Given the description of an element on the screen output the (x, y) to click on. 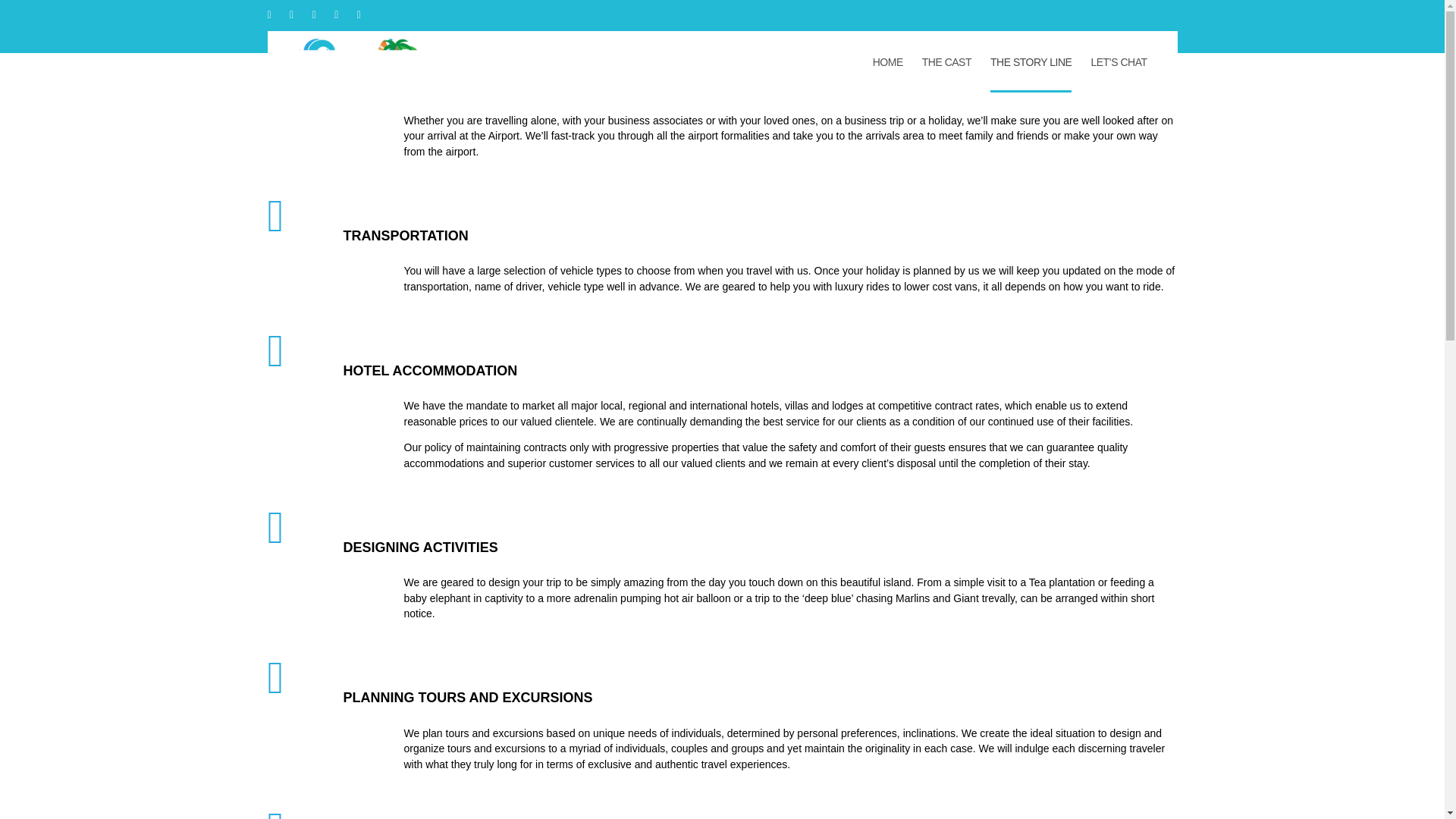
THE STORY LINE (1030, 61)
